Given the description of an element on the screen output the (x, y) to click on. 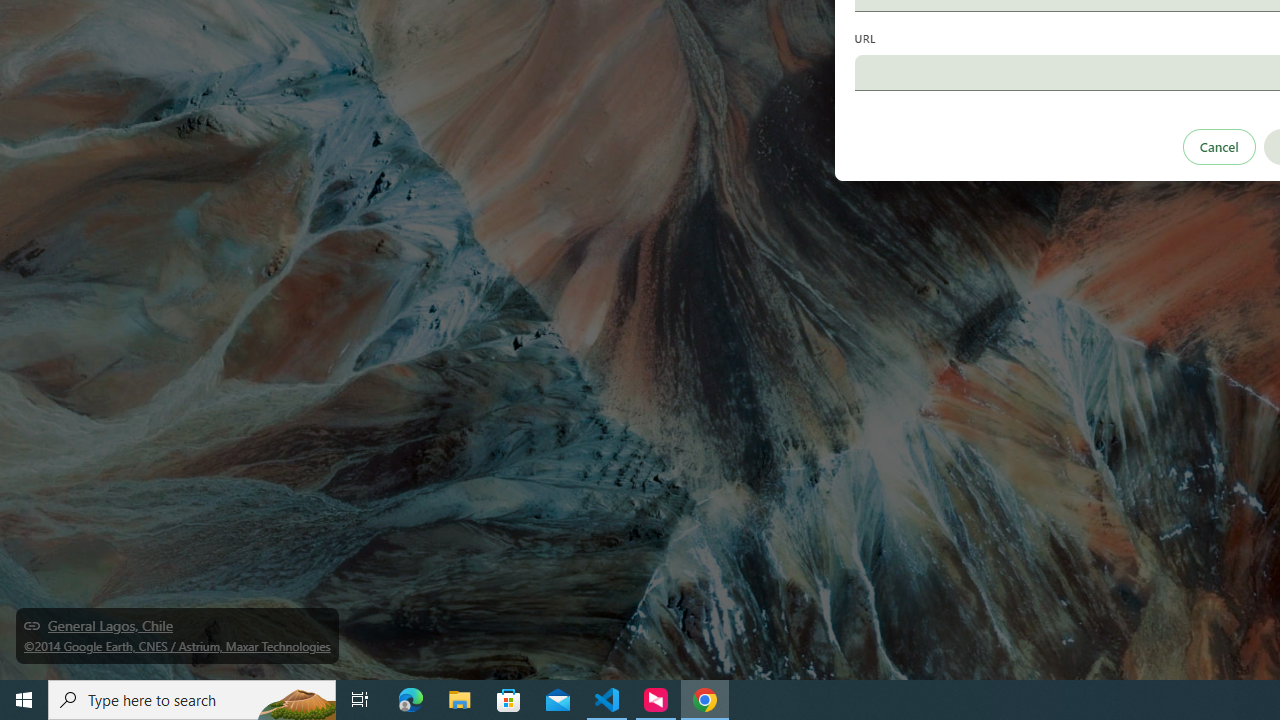
Cancel (1218, 146)
